Given the description of an element on the screen output the (x, y) to click on. 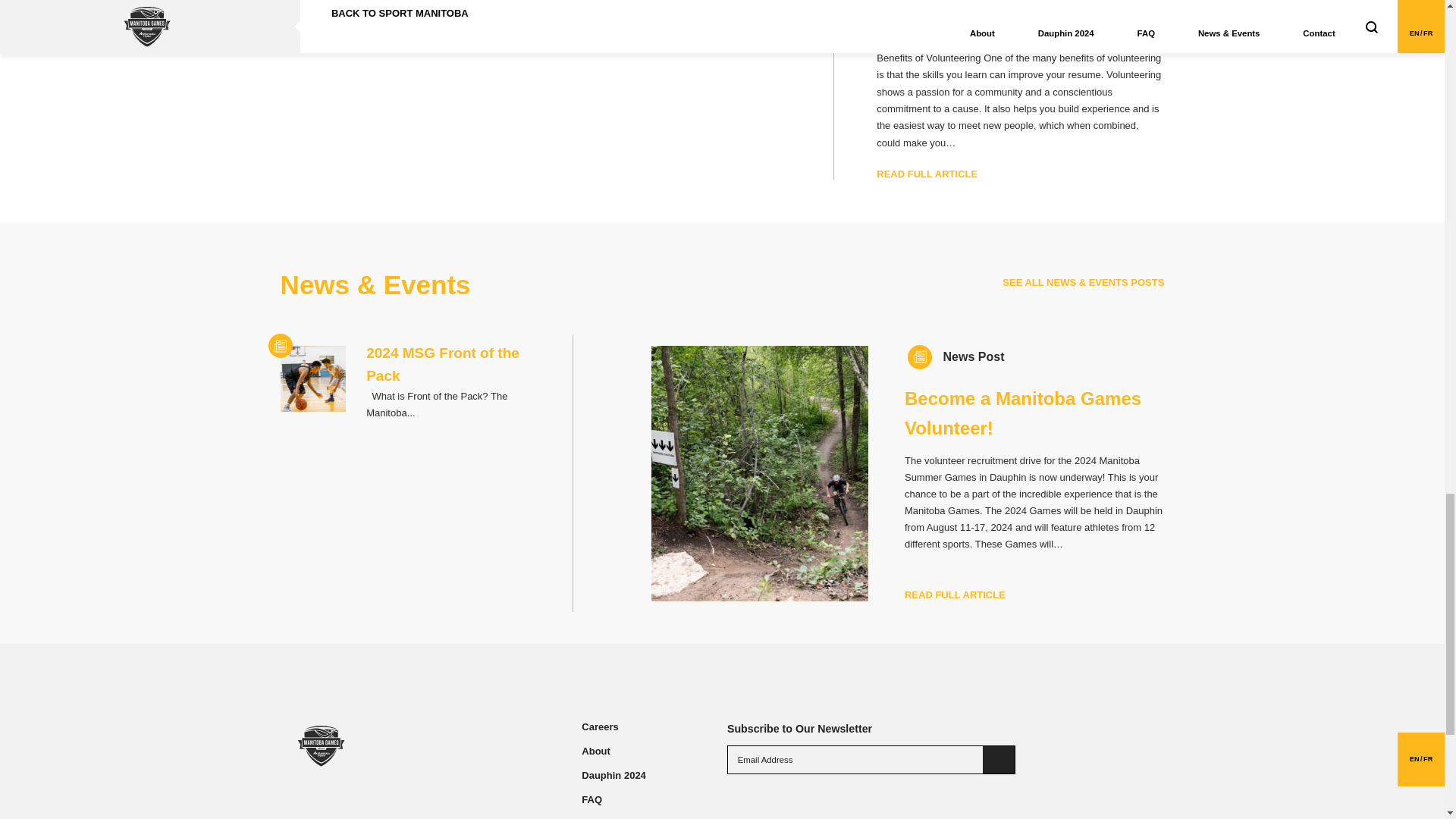
READ FULL ARTICLE (926, 173)
About (595, 751)
Become a Manitoba Games Volunteer! (1022, 412)
Careers (598, 726)
Dauphin 2024 (613, 775)
2024 MSG Front of the Pack (442, 364)
FAQ (591, 799)
5 Ways Volunteering Improves Your Resume (1008, 15)
READ FULL ARTICLE (955, 594)
